Given the description of an element on the screen output the (x, y) to click on. 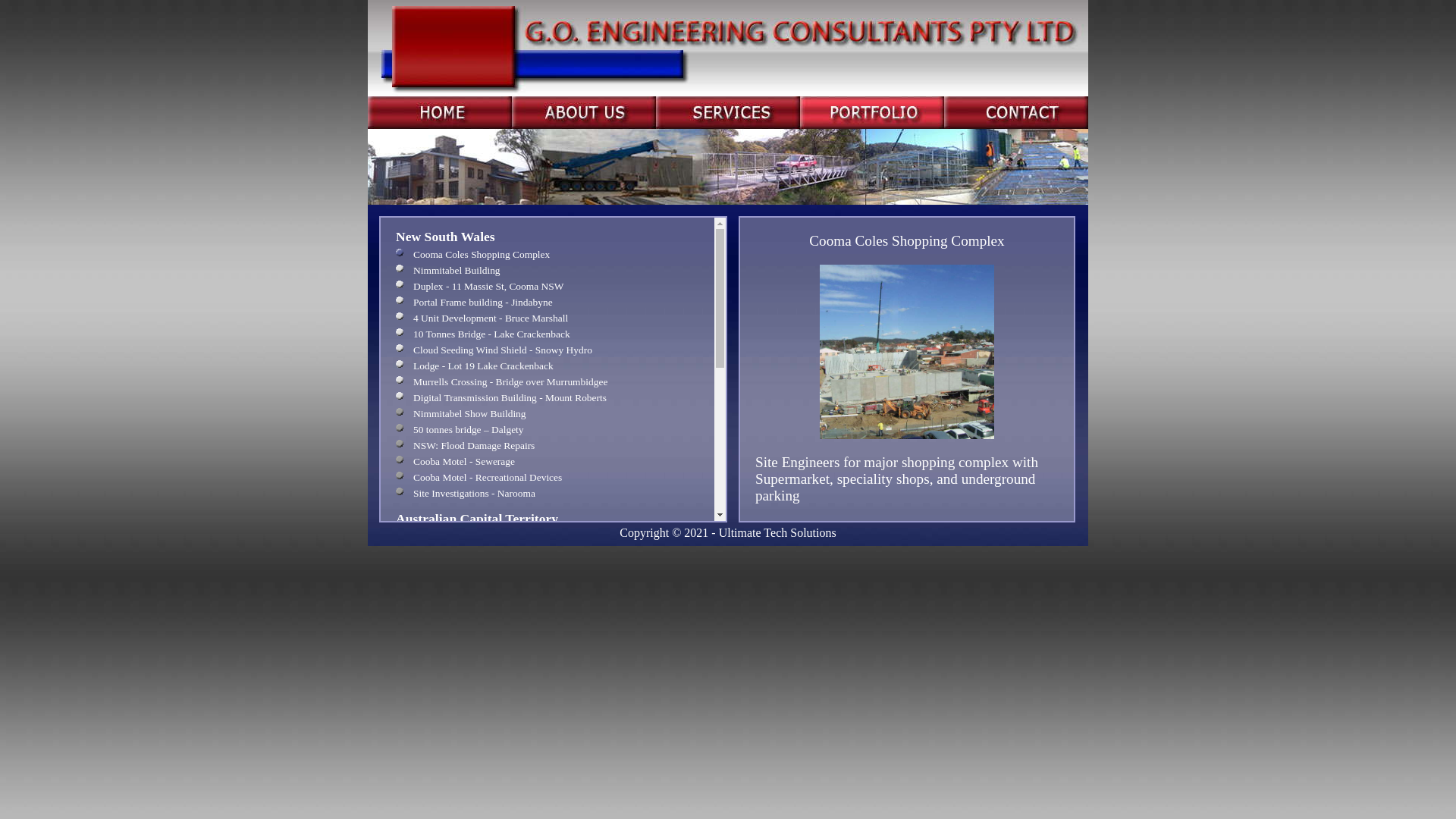
10 Tonnes Bridge - Lake Crackenback Element type: text (547, 334)
Cloud Seeding Wind Shield - Snowy Hydro Element type: text (547, 350)
Institution Garbage Storage Facilities Element type: text (547, 568)
Nimmitabel Show Building Element type: text (547, 413)
Digital Transmission Building - Mount Roberts Element type: text (547, 398)
Multi-Purpose Hall Element type: text (547, 643)
Duplex - 11 Massie St, Cooma NSW Element type: text (547, 286)
Cooma Coles Shopping Complex Element type: text (547, 254)
Structural Engineering for Solar Power Station at Nullign Element type: text (547, 762)
Nimmitabel Building Element type: text (547, 270)
Cooba Motel - Recreational Devices Element type: text (547, 477)
Structural Engineering for Resort Solar Collection Element type: text (547, 702)
Lodge - Lot 19 Lake Crackenback Element type: text (547, 366)
Cooba Motel - Sewerage Element type: text (547, 461)
Ultimate Tech Solutions Element type: text (777, 532)
Portal Frame building - Jindabyne Element type: text (547, 302)
4 Unit Development - Bruce Marshall Element type: text (547, 318)
Site Investigations - Narooma Element type: text (547, 493)
NSW: Flood Damage Repairs Element type: text (547, 445)
Various Domestic Structural Engineering at Mandurah Element type: text (547, 806)
Structural Engineering for Solar Power Station at Marble Bar Element type: text (547, 746)
Structural Engineering for Sun Power Solar Farm Element type: text (547, 686)
Southern Cross Station Element type: text (547, 627)
Murrells Crossing - Bridge over Murrumbidgee Element type: text (547, 382)
Springvale Multi-Unit Development Element type: text (547, 611)
Various Domestic Building Engineering Element type: text (547, 536)
Public Car Parks Element type: text (547, 552)
